Given the description of an element on the screen output the (x, y) to click on. 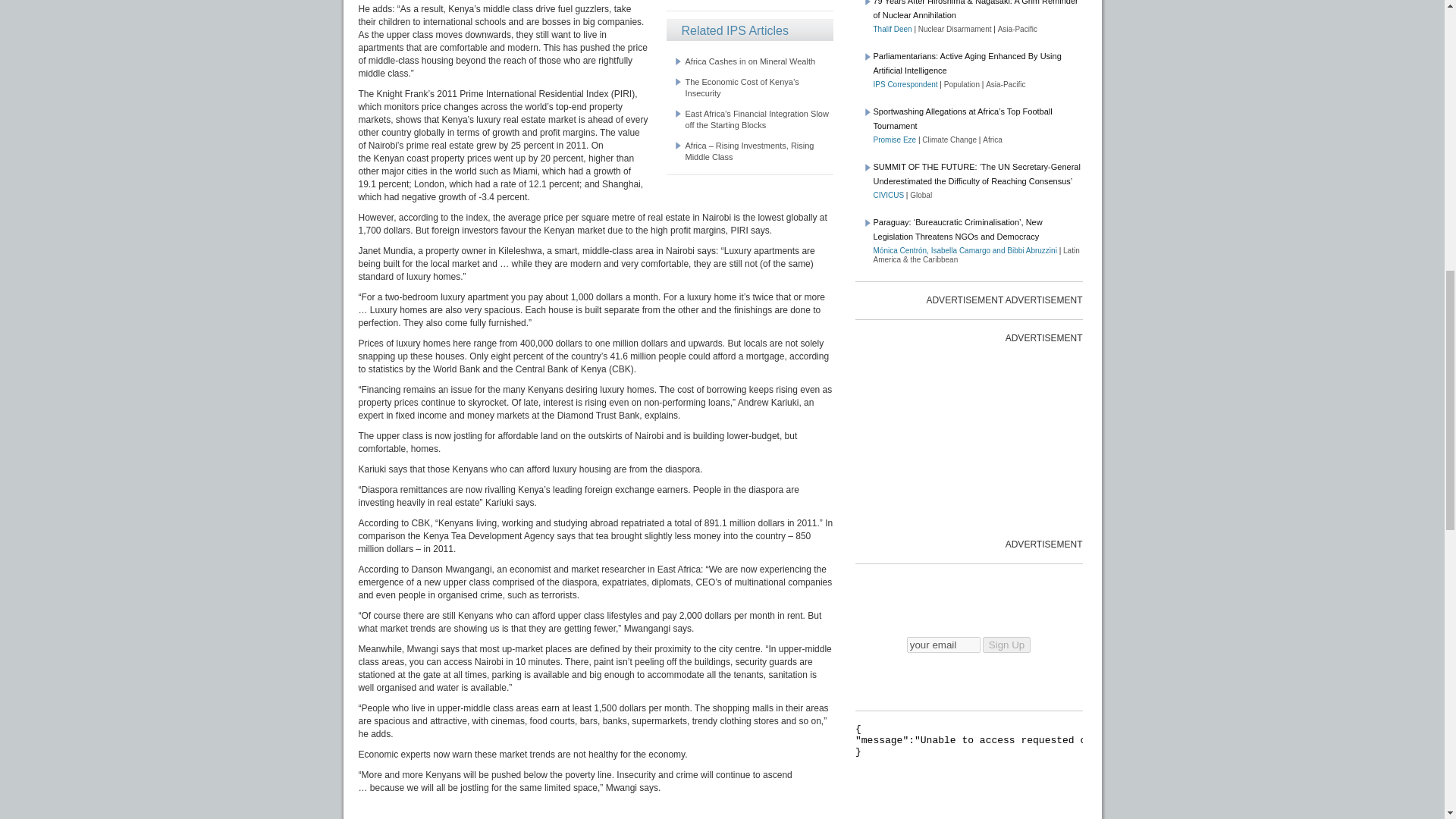
your email (943, 644)
Posts by CIVICUS (888, 194)
Posts by IPS Correspondent (905, 84)
Posts by Thalif Deen (892, 29)
Sign Up (1006, 644)
Posts by Promise Eze (895, 139)
